Given the description of an element on the screen output the (x, y) to click on. 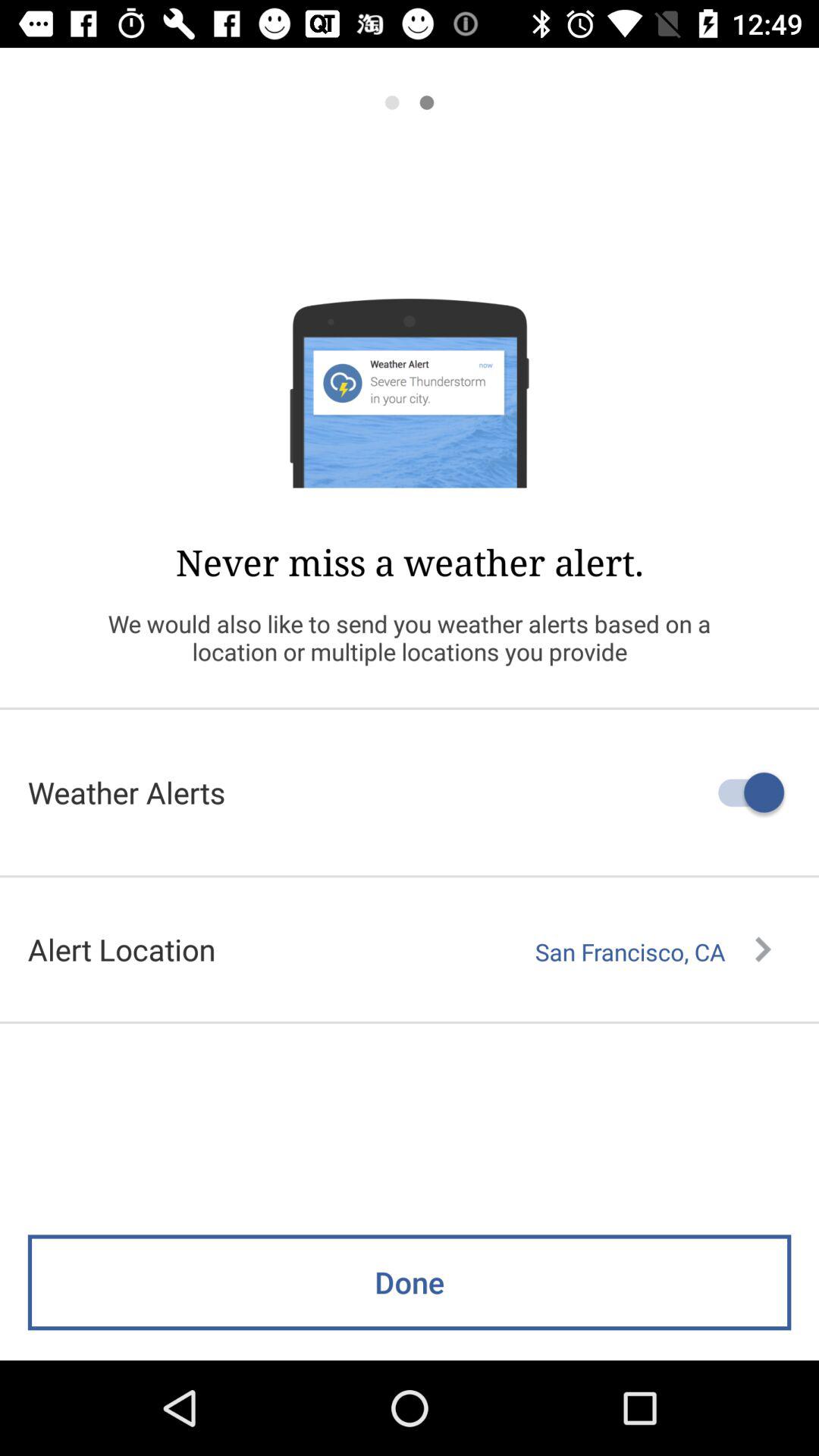
select the done (409, 1282)
